Given the description of an element on the screen output the (x, y) to click on. 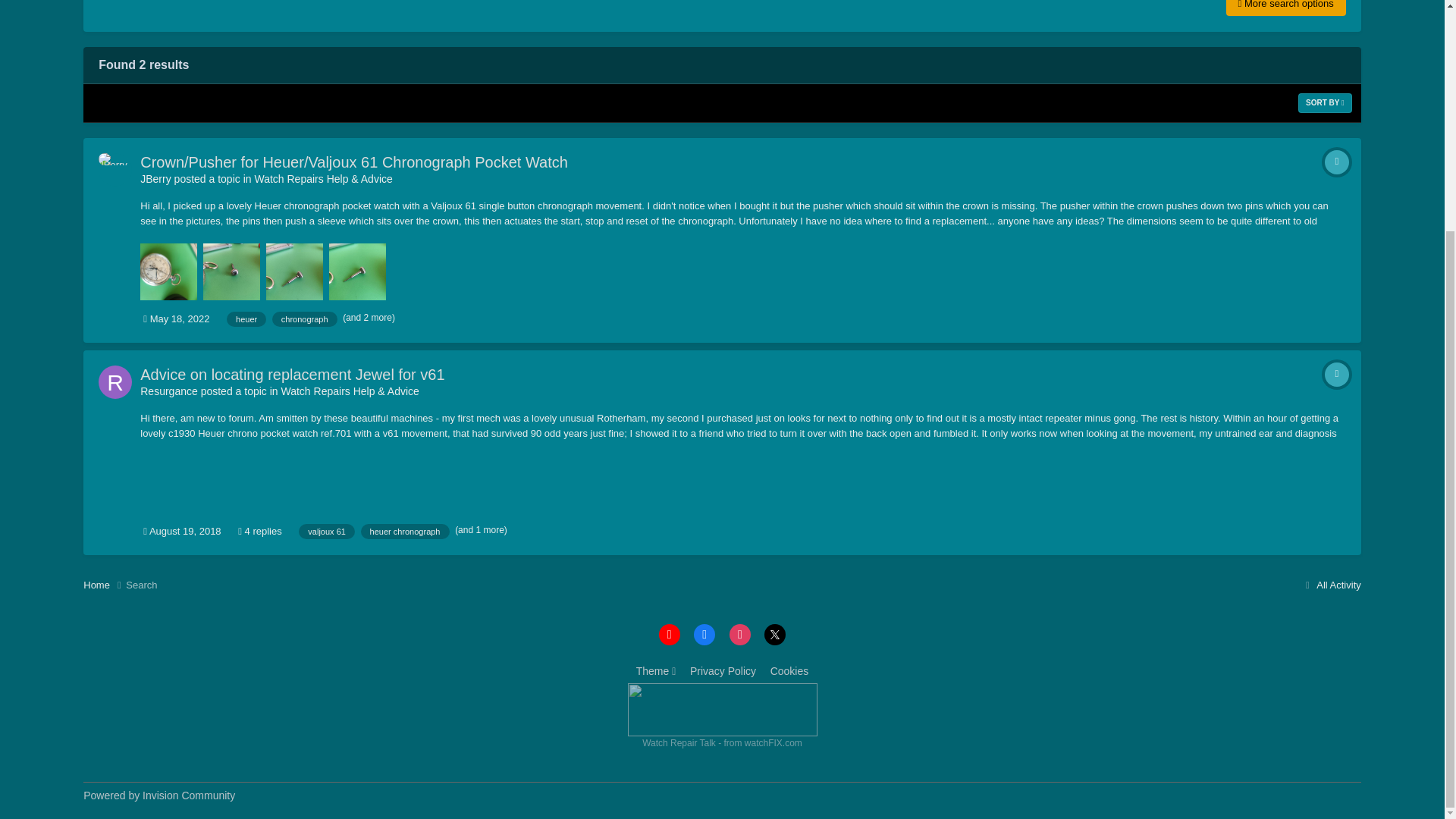
Go to Resurgance's profile (115, 381)
Go to JBerry's profile (154, 178)
Topic (1336, 161)
Find other content tagged with 'heuer chronograph' (405, 531)
Topic (1336, 374)
Go to JBerry's profile (115, 169)
Find other content tagged with 'heuer' (246, 319)
Go to Resurgance's profile (168, 390)
Find other content tagged with 'valjoux 61' (326, 531)
Find other content tagged with 'chronograph' (304, 319)
